Given the description of an element on the screen output the (x, y) to click on. 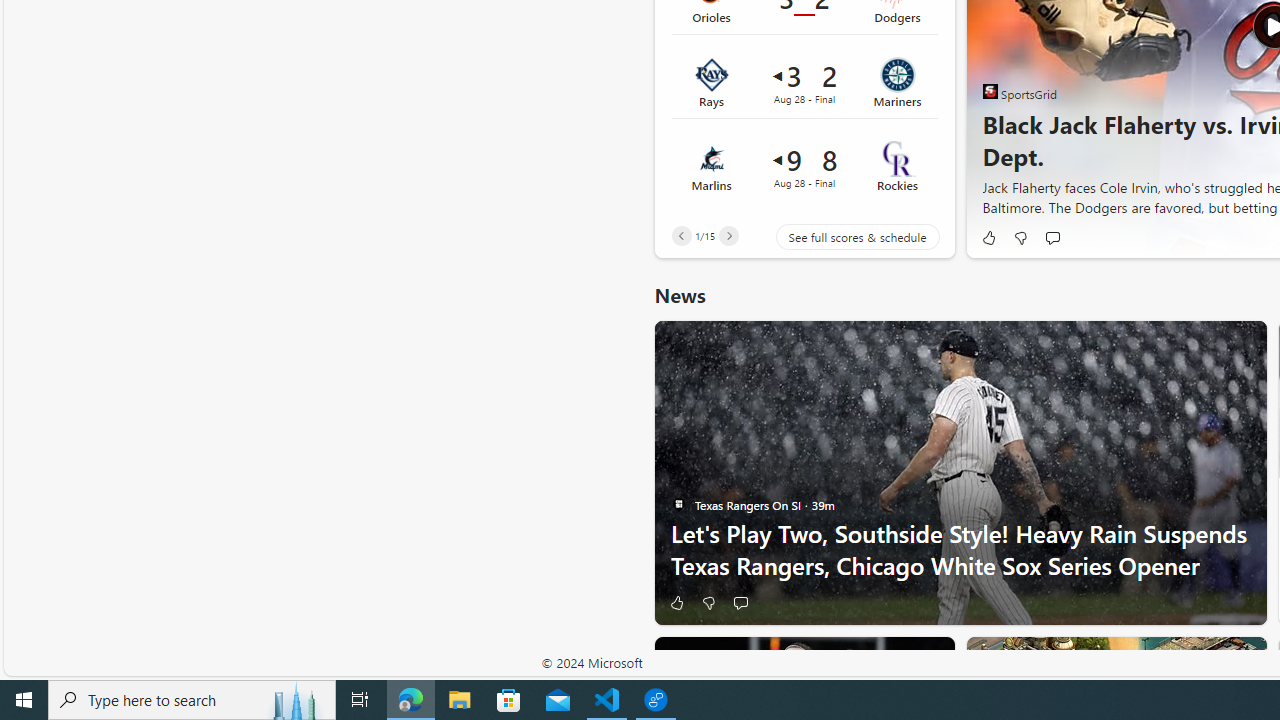
previous (992, 26)
